Given the description of an element on the screen output the (x, y) to click on. 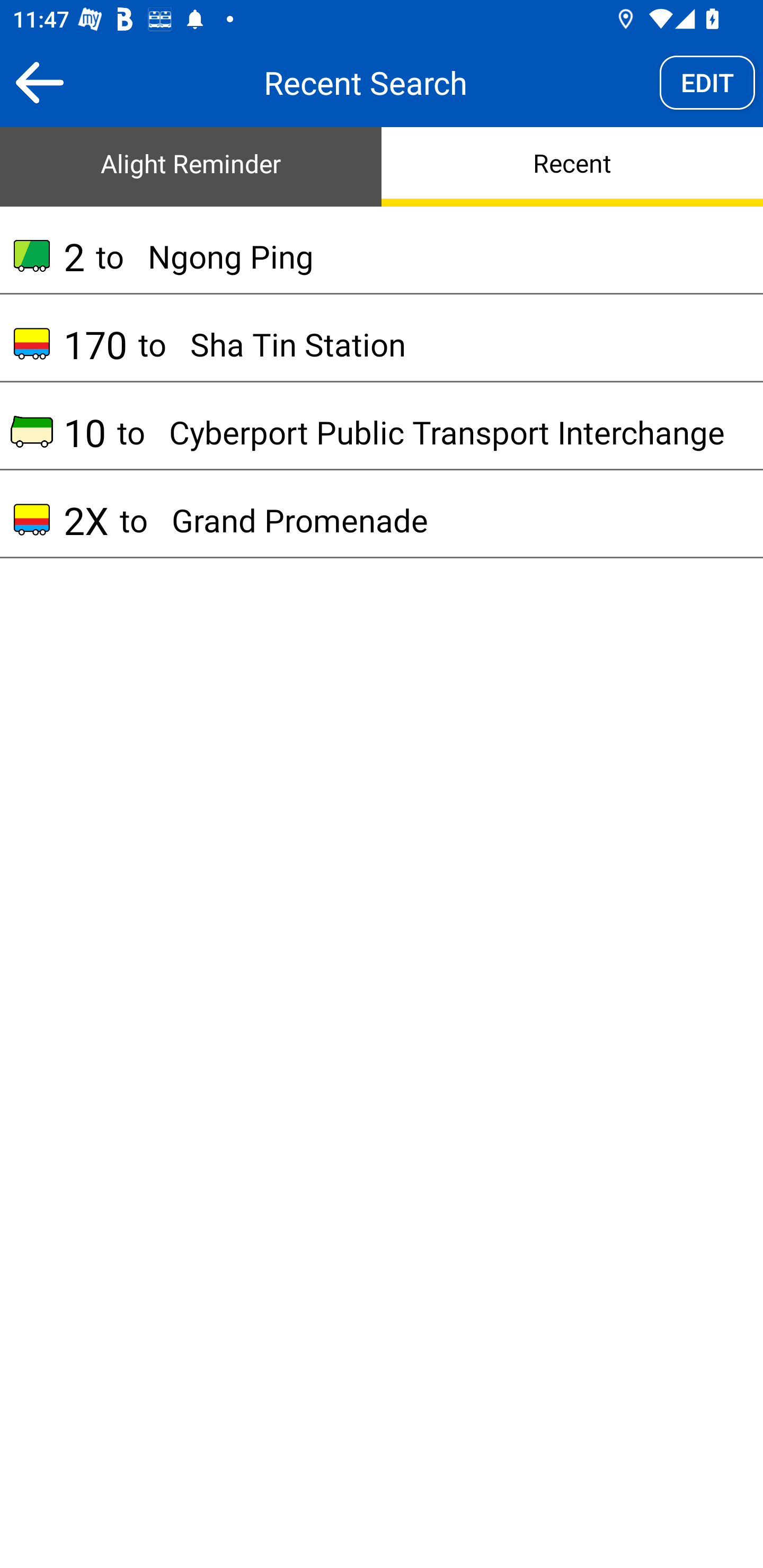
Back (39, 82)
EDIT Edit (707, 81)
Alight Reminder (190, 165)
Recent selected (572, 165)
